Given the description of an element on the screen output the (x, y) to click on. 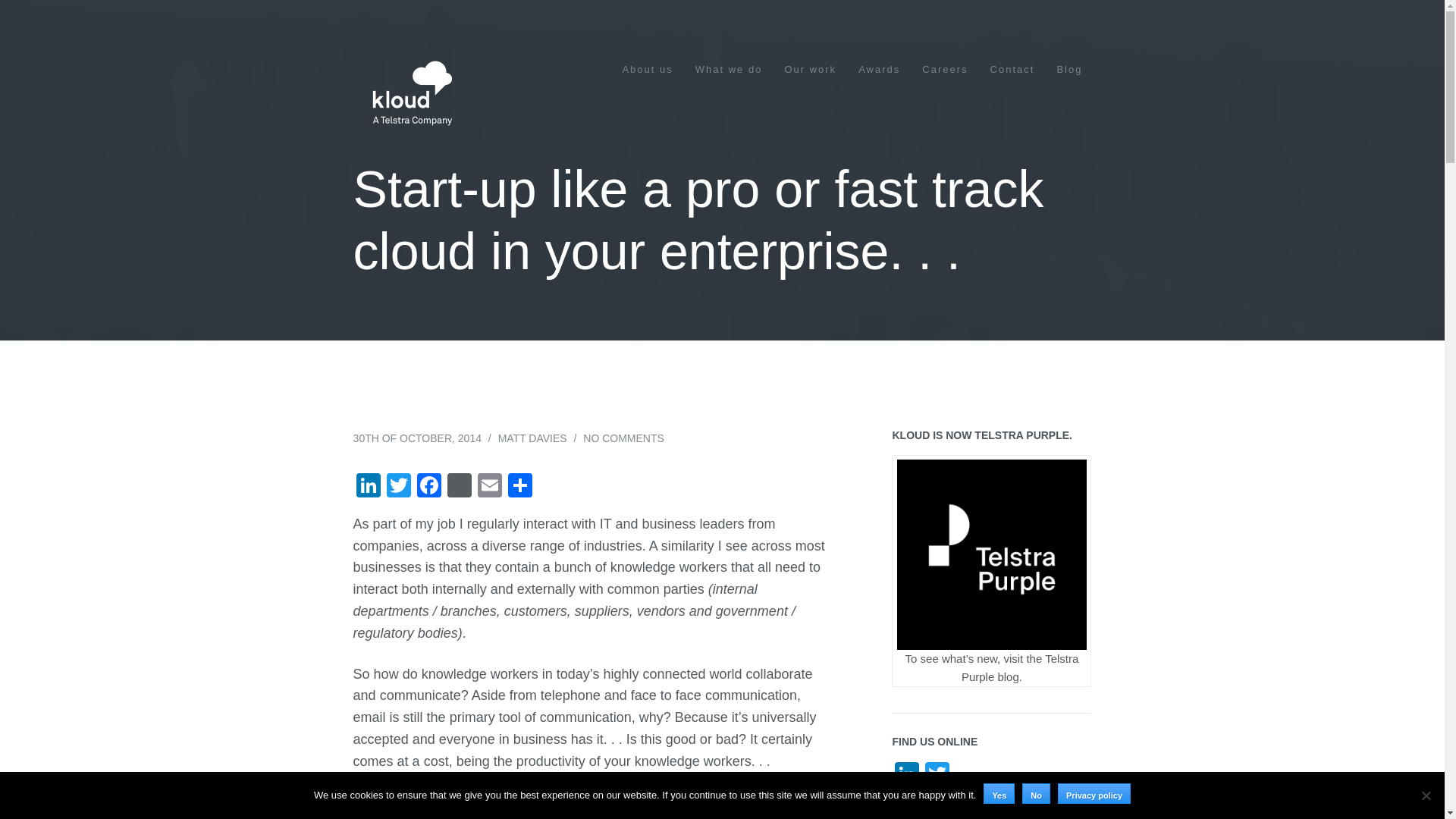
Kloud Blog (410, 92)
LinkedIn (368, 487)
SKIP TO CONTENT (642, 63)
NO COMMENTS (623, 438)
Our work (809, 71)
Facebook (428, 487)
LinkedIn (906, 776)
WordPress (459, 487)
LinkedIn (368, 487)
Blog (1069, 71)
What we do (728, 71)
Email (489, 487)
Email (489, 487)
Kloud is now Telstra Purple (991, 554)
WordPress (459, 487)
